Given the description of an element on the screen output the (x, y) to click on. 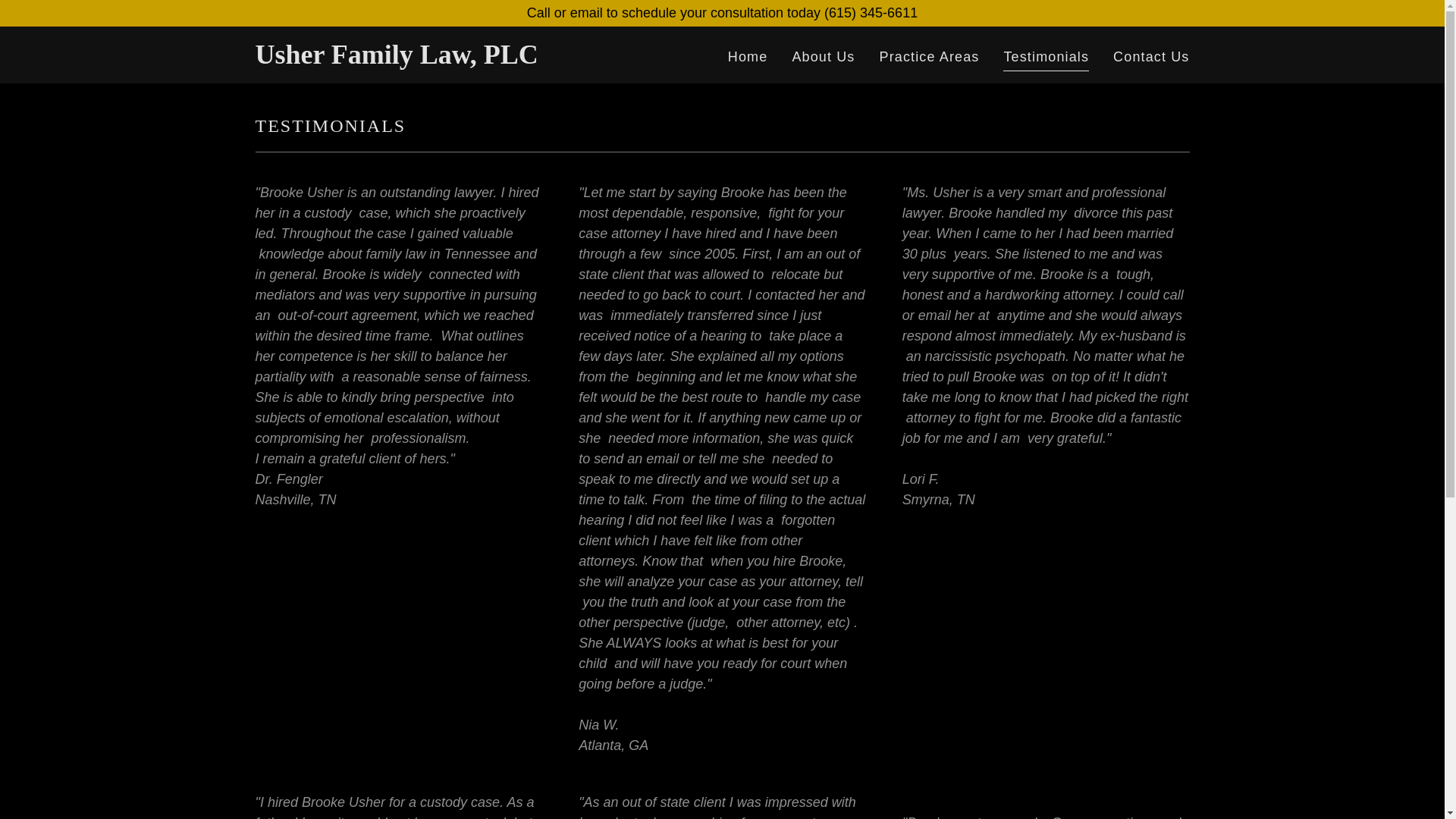
About Us (823, 57)
Practice Areas (929, 57)
Home (748, 57)
Usher Family Law, PLC (417, 58)
Usher Family Law, PLC (417, 58)
Contact Us (1150, 57)
Testimonials (1046, 58)
